Given the description of an element on the screen output the (x, y) to click on. 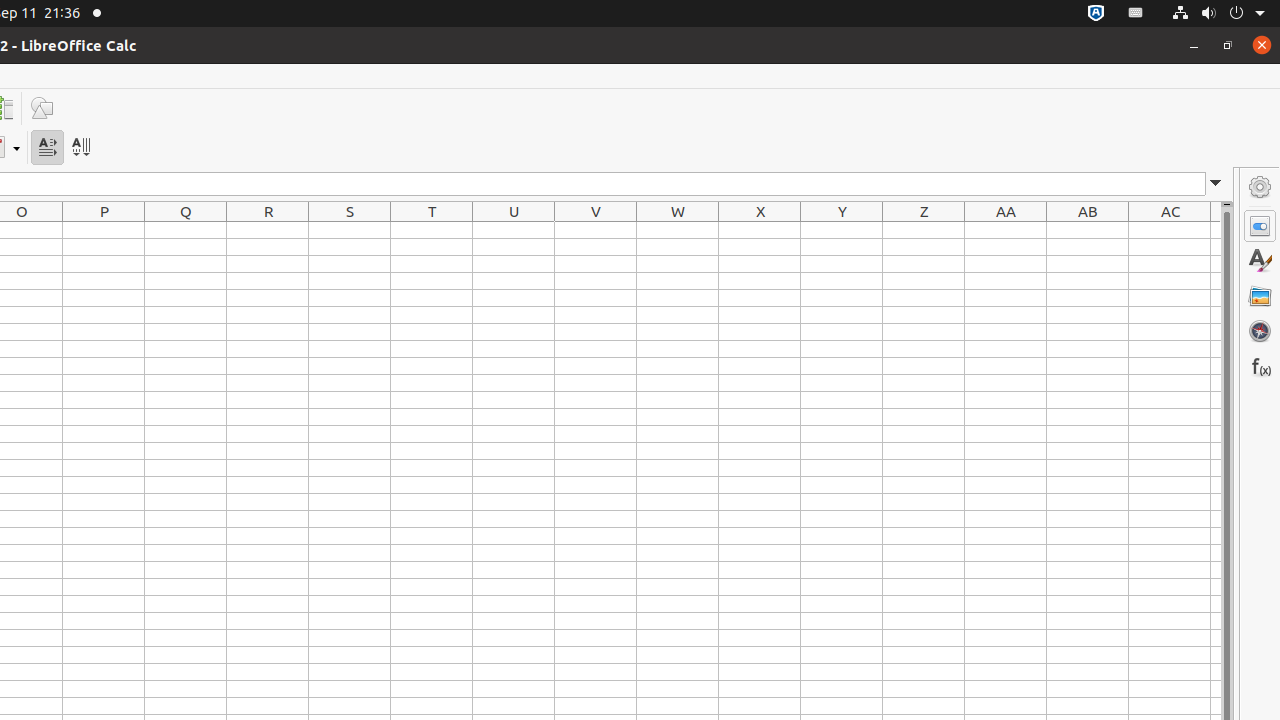
X1 Element type: table-cell (760, 230)
Text direction from top to bottom Element type: toggle-button (80, 147)
Properties Element type: radio-button (1260, 226)
W1 Element type: table-cell (678, 230)
